Given the description of an element on the screen output the (x, y) to click on. 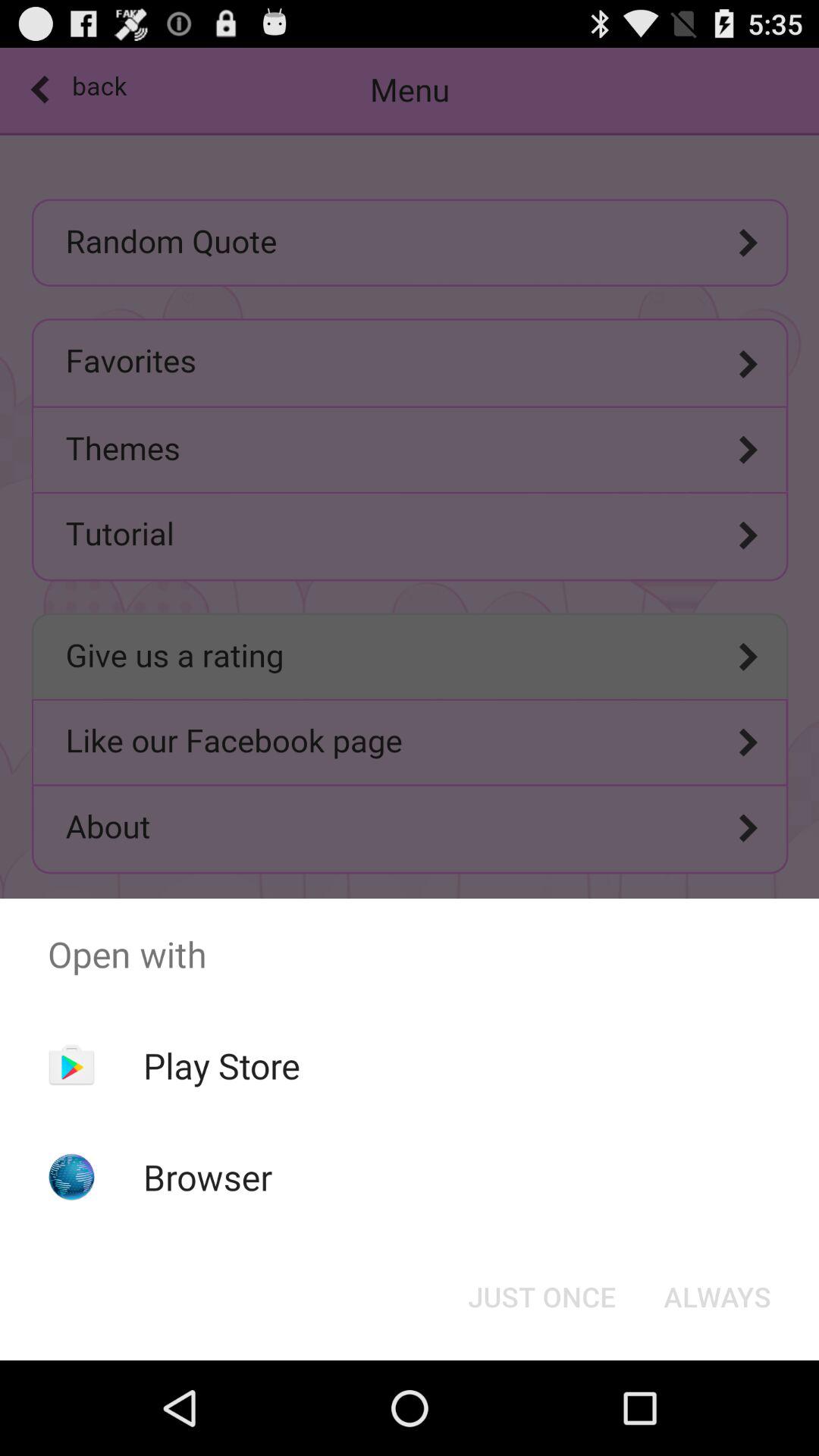
press icon above browser app (221, 1065)
